Given the description of an element on the screen output the (x, y) to click on. 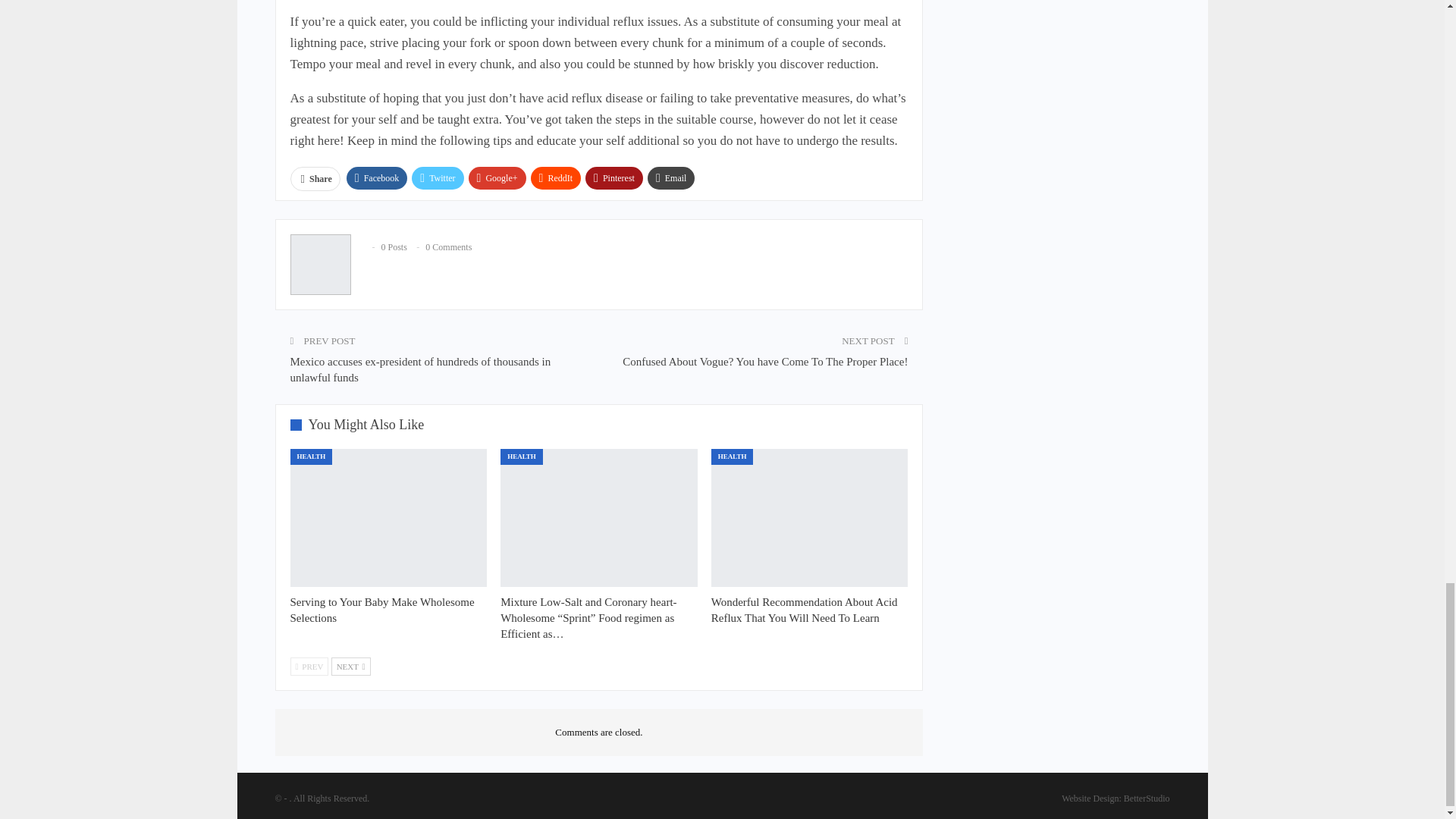
Facebook (376, 178)
Pinterest (614, 178)
HEALTH (310, 456)
ReddIt (555, 178)
Serving to Your Baby Make Wholesome Selections (381, 610)
Serving to Your Baby Make Wholesome Selections (381, 610)
Email (671, 178)
HEALTH (521, 456)
